Given the description of an element on the screen output the (x, y) to click on. 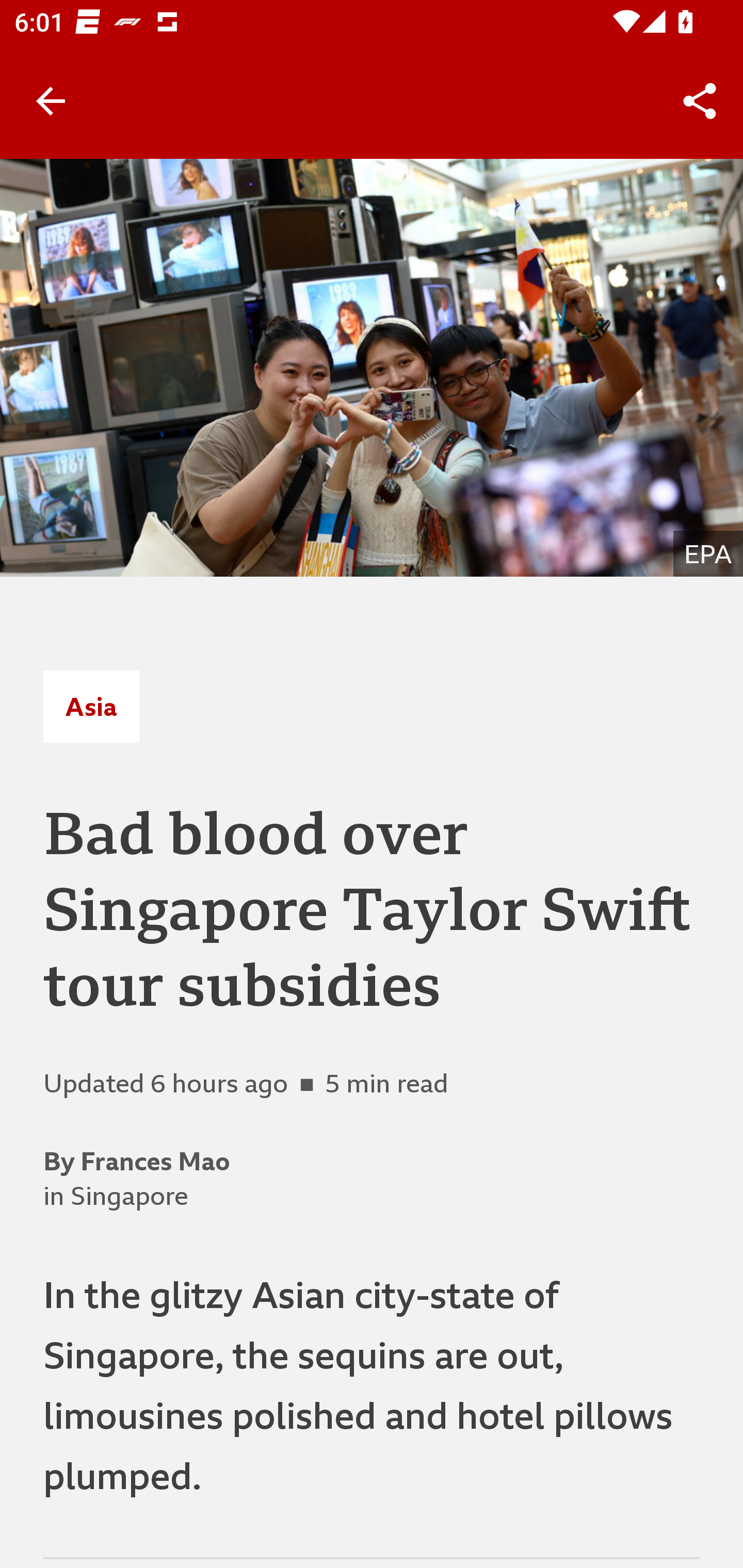
Back (50, 101)
Share (699, 101)
Asia (91, 706)
